Given the description of an element on the screen output the (x, y) to click on. 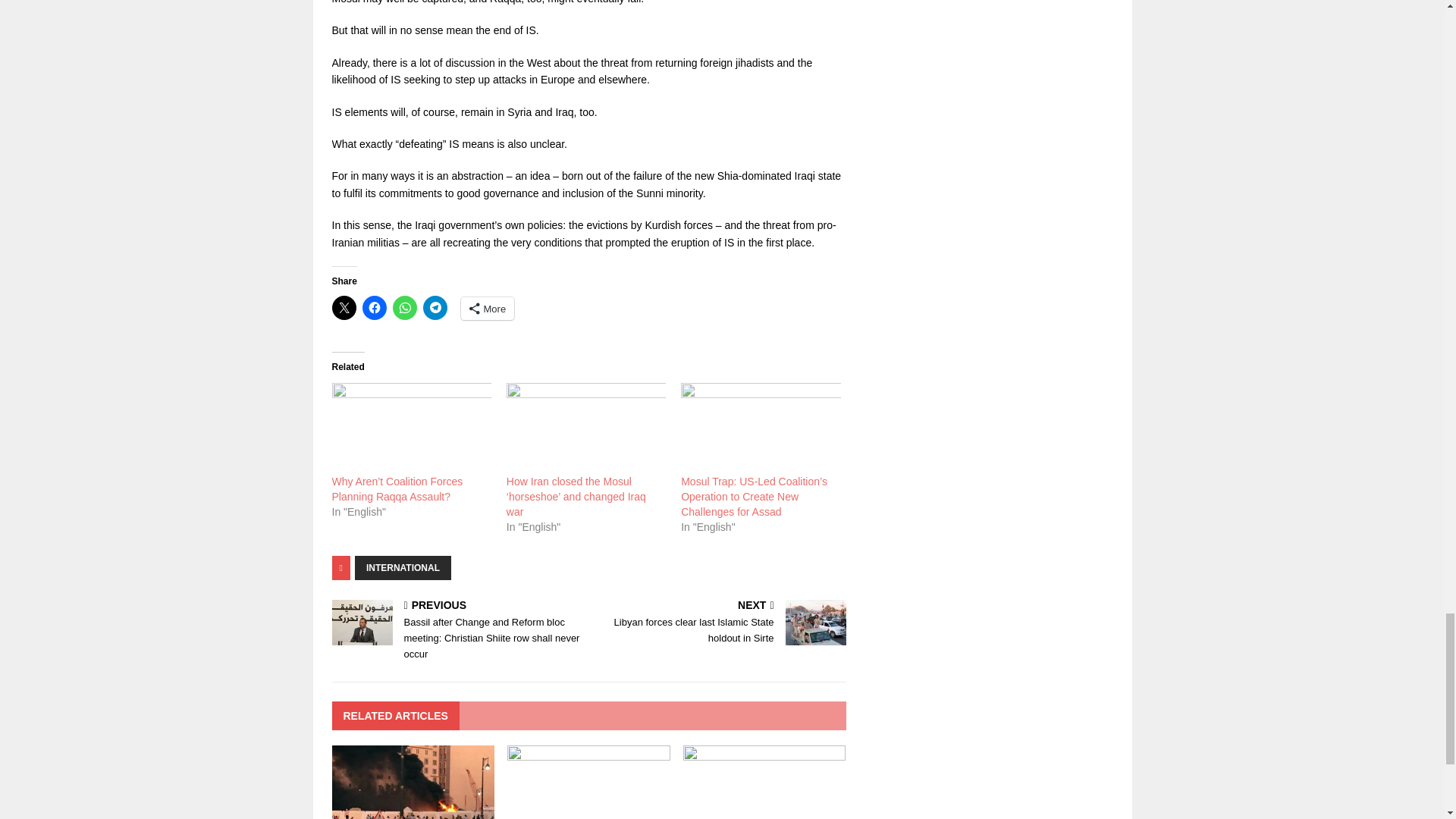
Click to share on WhatsApp (404, 307)
Click to share on X (343, 307)
Click to share on Telegram (434, 307)
Click to share on Facebook (374, 307)
